Given the description of an element on the screen output the (x, y) to click on. 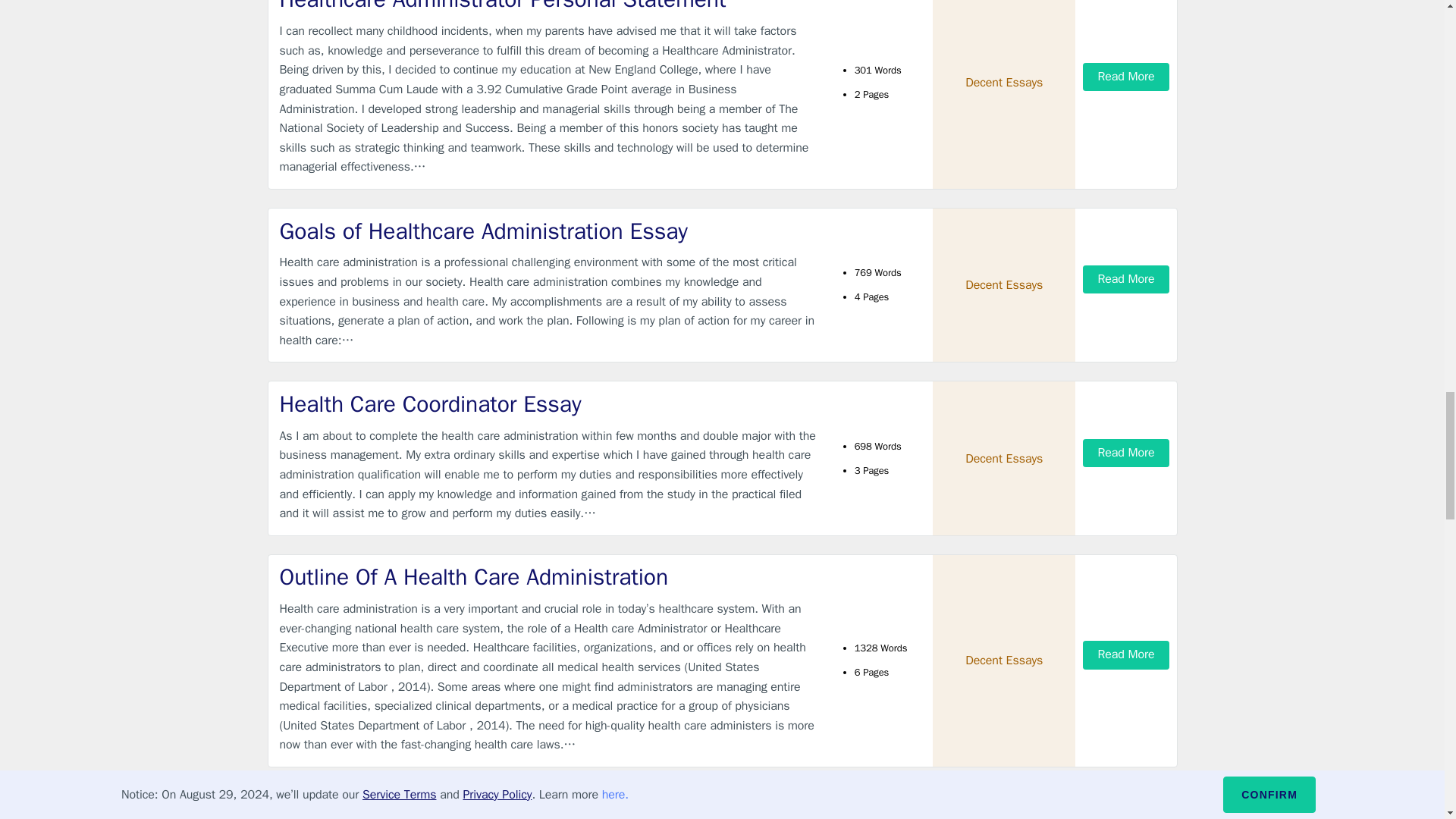
Read More (1126, 452)
Read More (1126, 76)
Outline Of A Health Care Administration (548, 576)
Healthcare Administrator Personal Statement (548, 7)
Health Care Coordinator Essay (548, 404)
Goals of Healthcare Administration Essay (548, 231)
Read More (1126, 279)
